Given the description of an element on the screen output the (x, y) to click on. 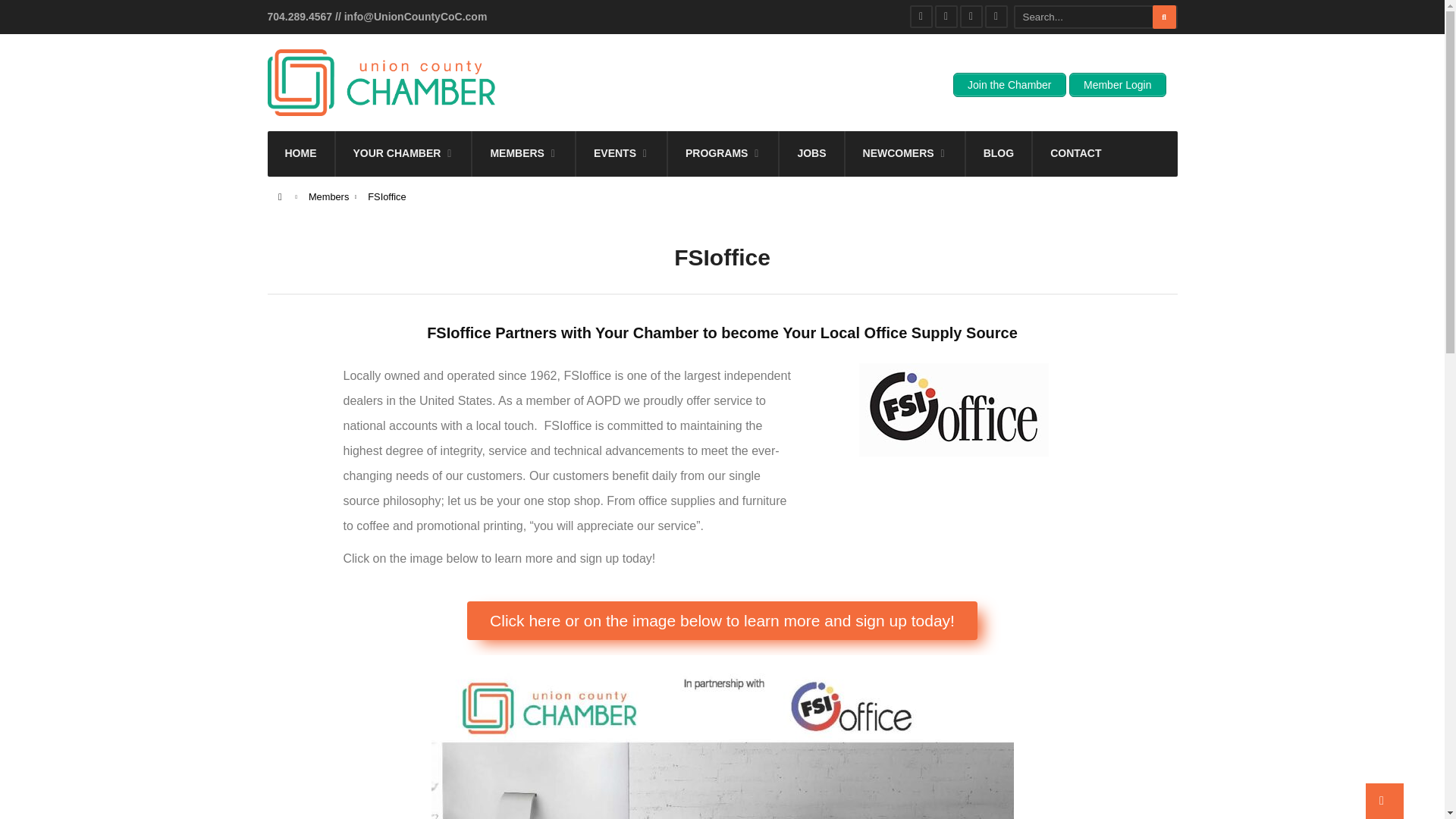
EVENTS (621, 153)
Member Login (1117, 84)
PROGRAMS (722, 153)
Facebook (921, 15)
Join the Chamber (1009, 84)
LinkedIn (995, 15)
Twitter (945, 15)
YOUR CHAMBER (403, 153)
MEMBERS (523, 153)
Instagram (970, 15)
